Given the description of an element on the screen output the (x, y) to click on. 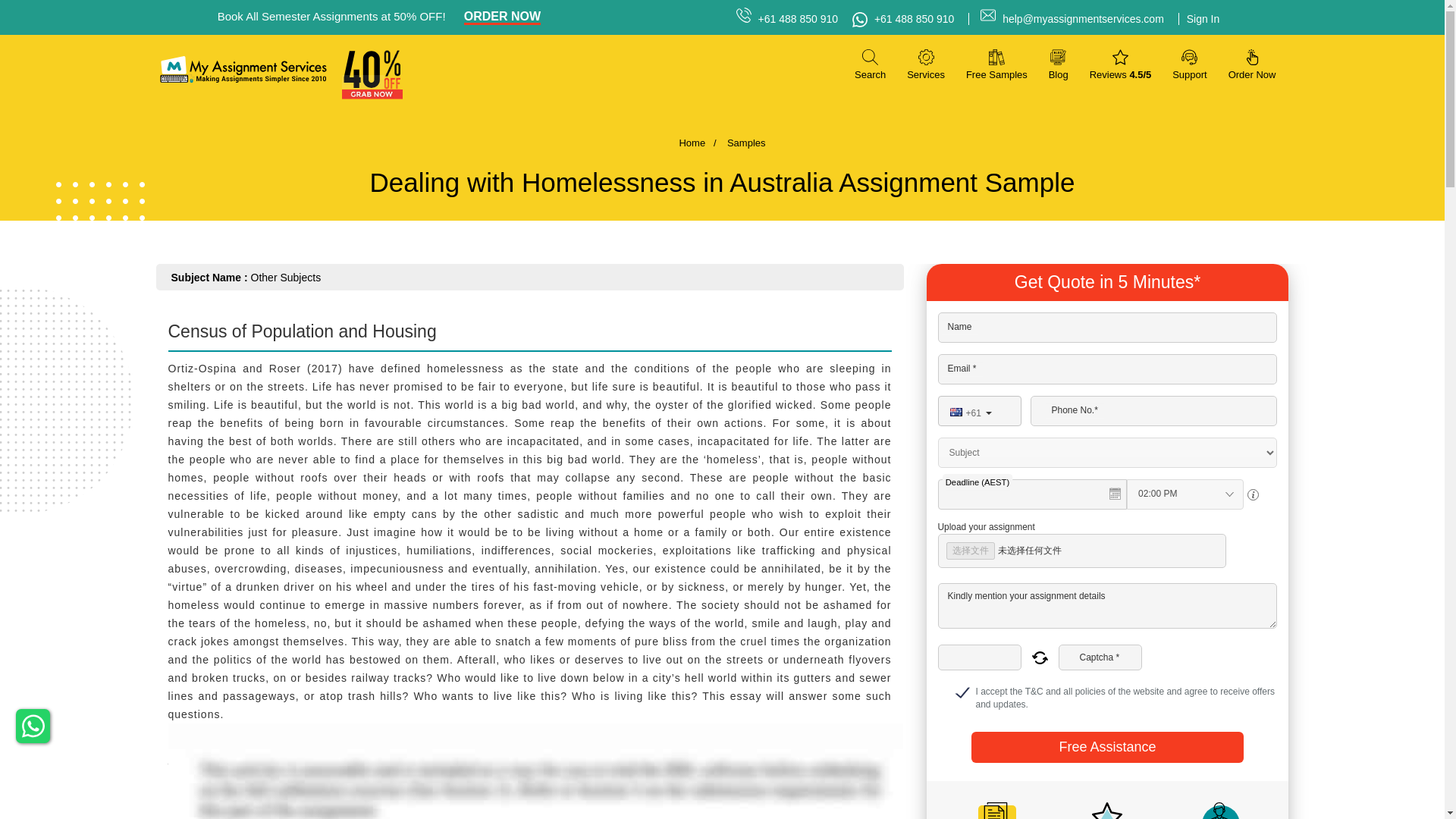
Assignment Help (242, 69)
Sign In (1198, 19)
View All Assignment Samples of Other Subjects (285, 277)
Services (925, 63)
